Given the description of an element on the screen output the (x, y) to click on. 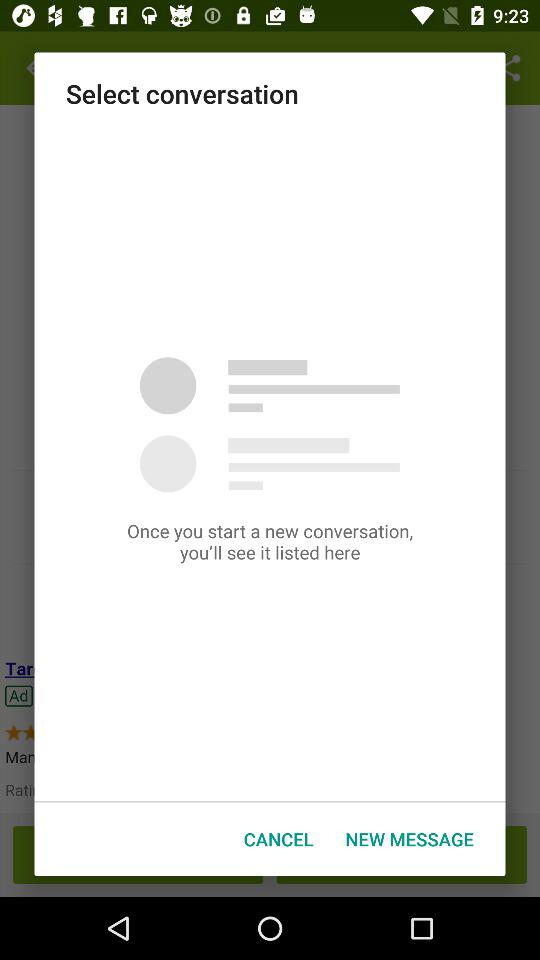
click icon to the right of cancel (409, 838)
